Given the description of an element on the screen output the (x, y) to click on. 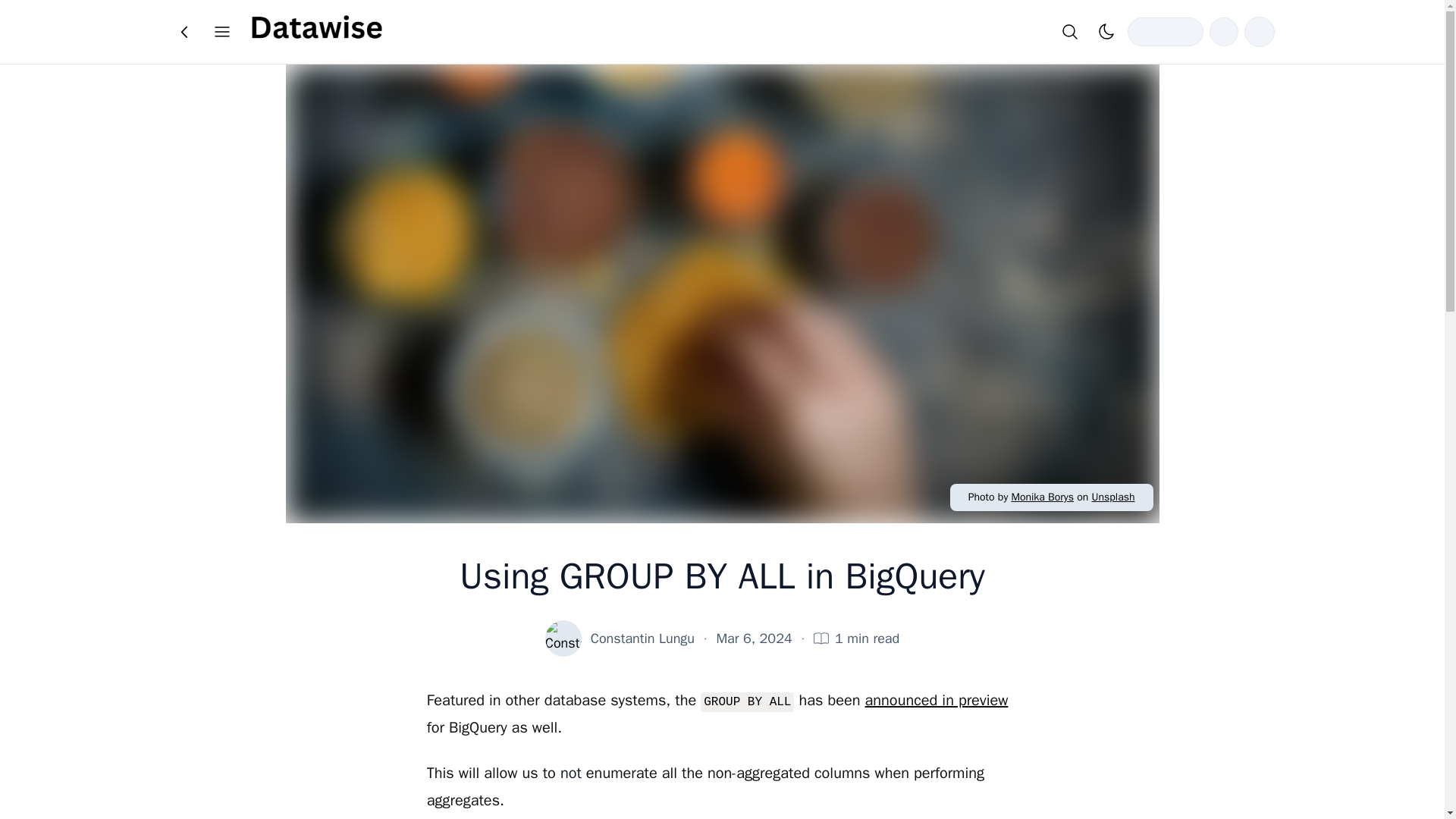
Unsplash (1112, 496)
Mar 6, 2024 (754, 638)
Monika Borys (1042, 496)
Constantin Lungu (642, 638)
announced in preview (936, 700)
